Given the description of an element on the screen output the (x, y) to click on. 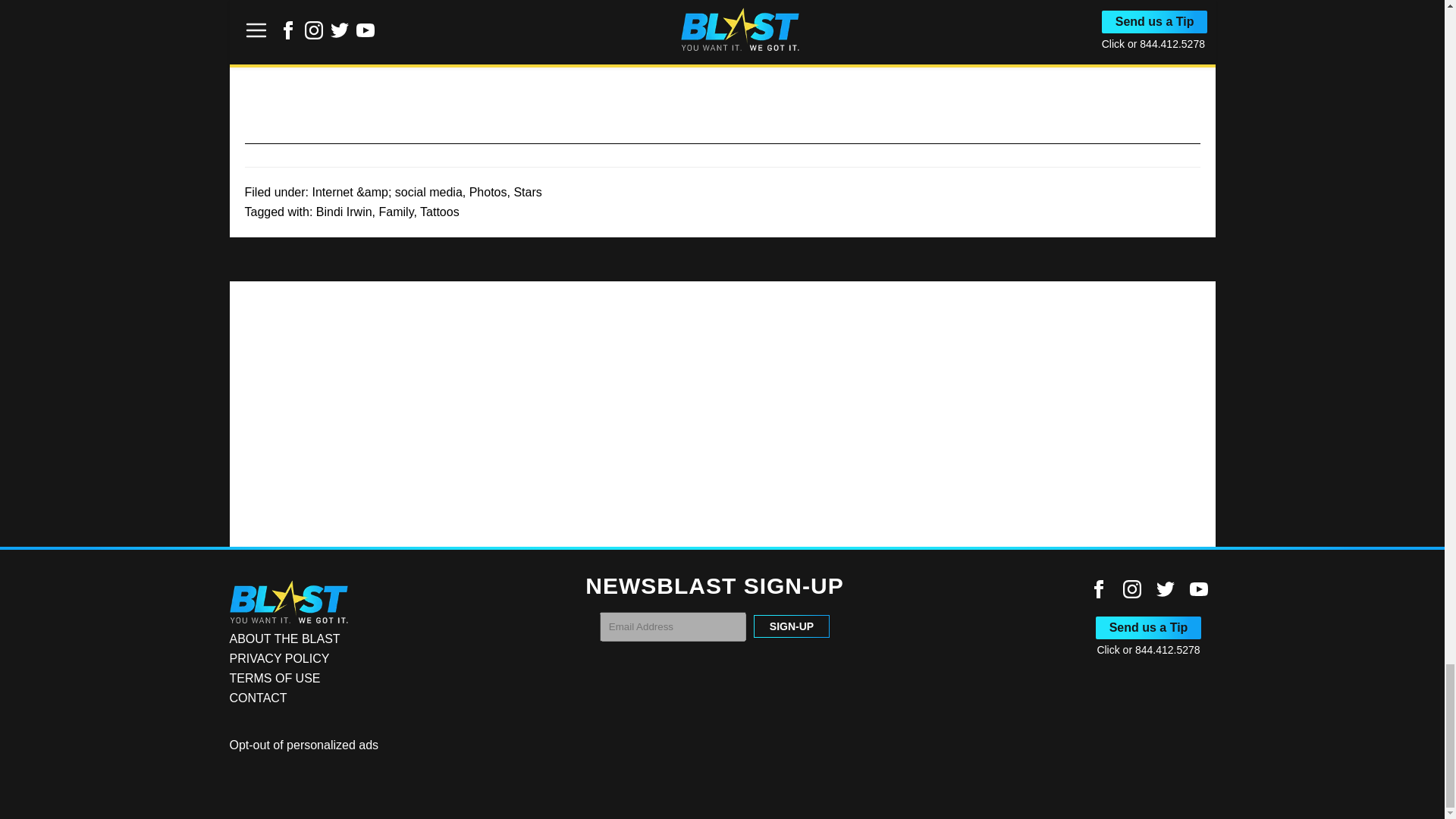
Link to Instagram (1131, 588)
Photos (487, 192)
Link to Facebook (1097, 588)
Bindi Irwin (343, 211)
Tattoos (440, 211)
TERMS OF USE (274, 677)
PRIVACY POLICY (278, 658)
Link to Youtube (1198, 588)
Link to Twitter (1164, 588)
SIGN-UP (791, 626)
